Given the description of an element on the screen output the (x, y) to click on. 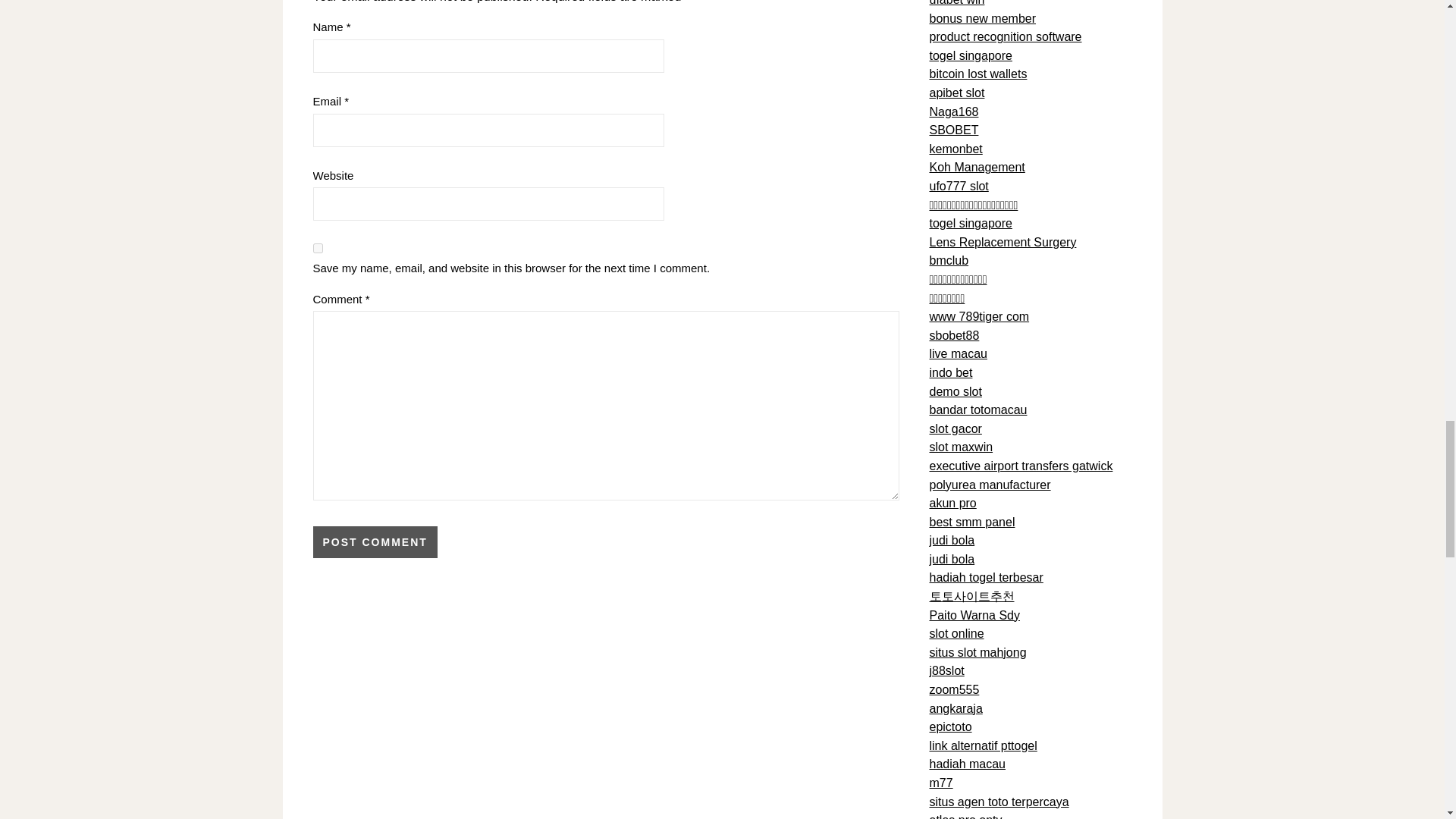
Post Comment (374, 541)
yes (317, 248)
Post Comment (374, 541)
